Given the description of an element on the screen output the (x, y) to click on. 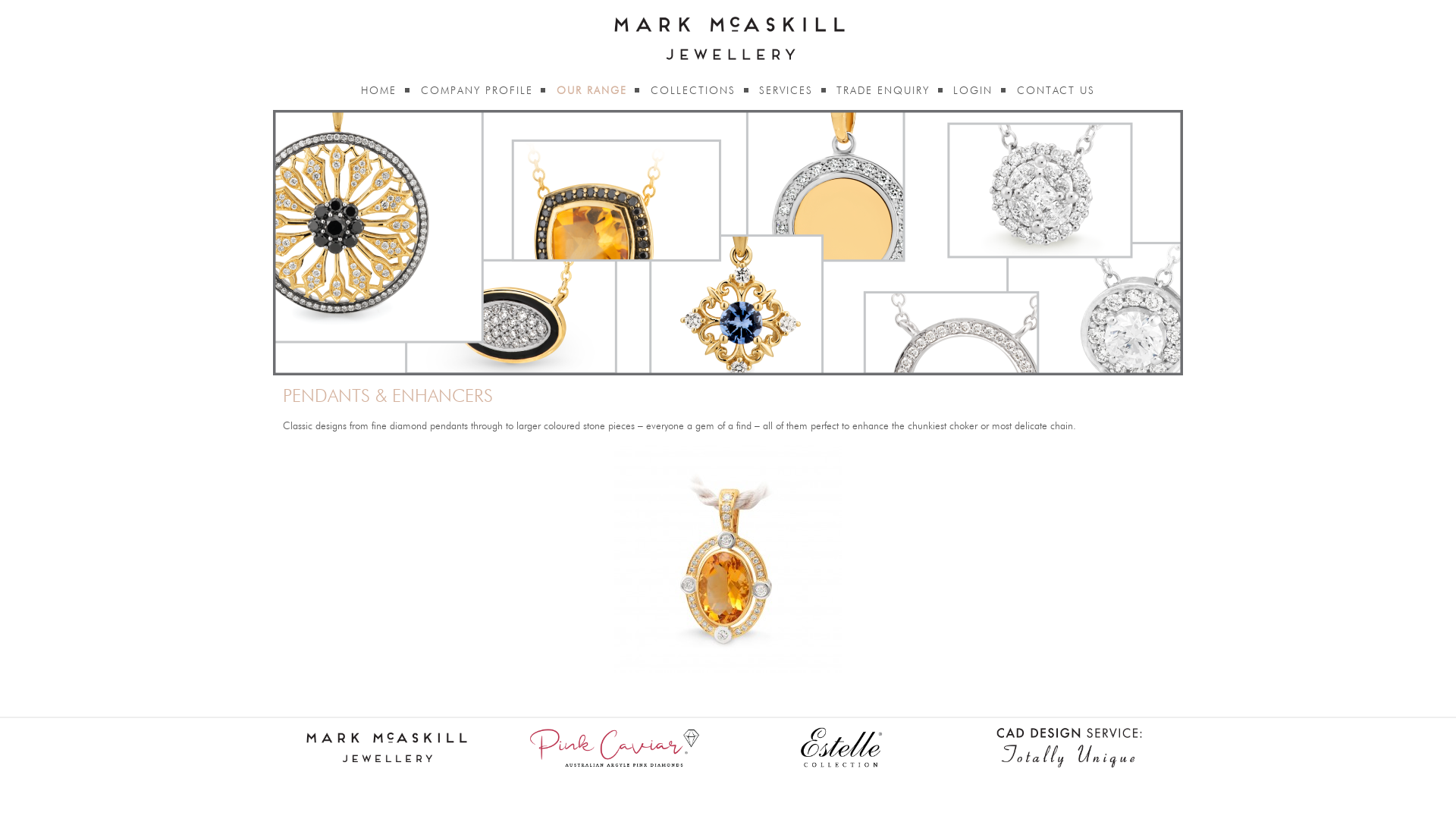
HOME Element type: text (378, 90)
SERVICES Element type: text (785, 90)
COMPANY PROFILE Element type: text (476, 90)
COLLECTIONS Element type: text (692, 90)
TRADE ENQUIRY Element type: text (882, 90)
CONTACT US Element type: text (1055, 90)
OUR RANGE Element type: text (591, 90)
Homepage Element type: hover (727, 37)
LOGIN Element type: text (972, 90)
